Given the description of an element on the screen output the (x, y) to click on. 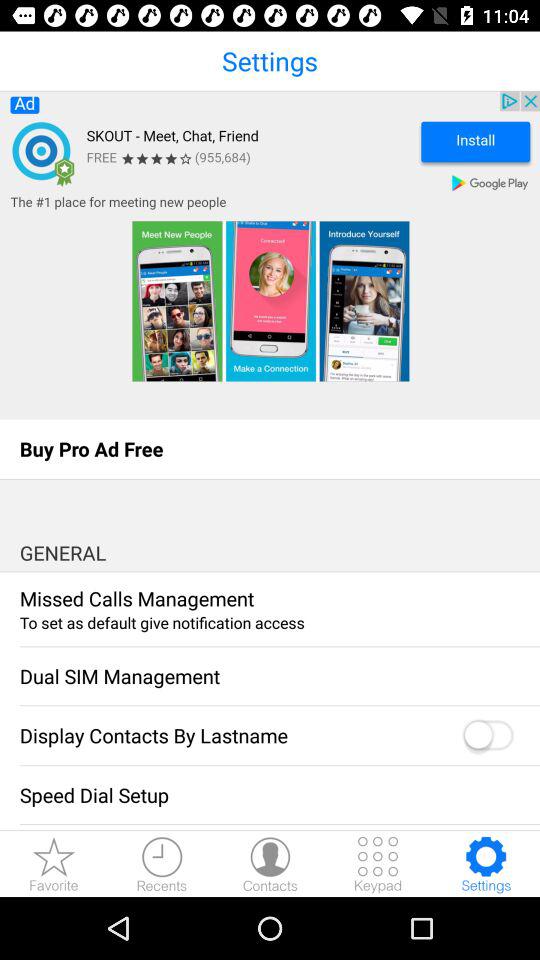
advertisement to install skout app (270, 255)
